Given the description of an element on the screen output the (x, y) to click on. 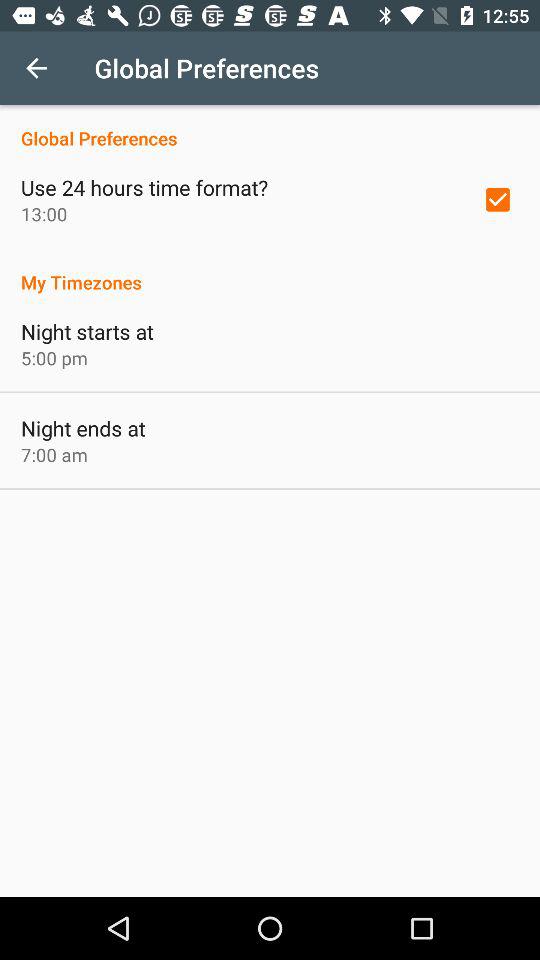
launch item below the global preferences (144, 187)
